Given the description of an element on the screen output the (x, y) to click on. 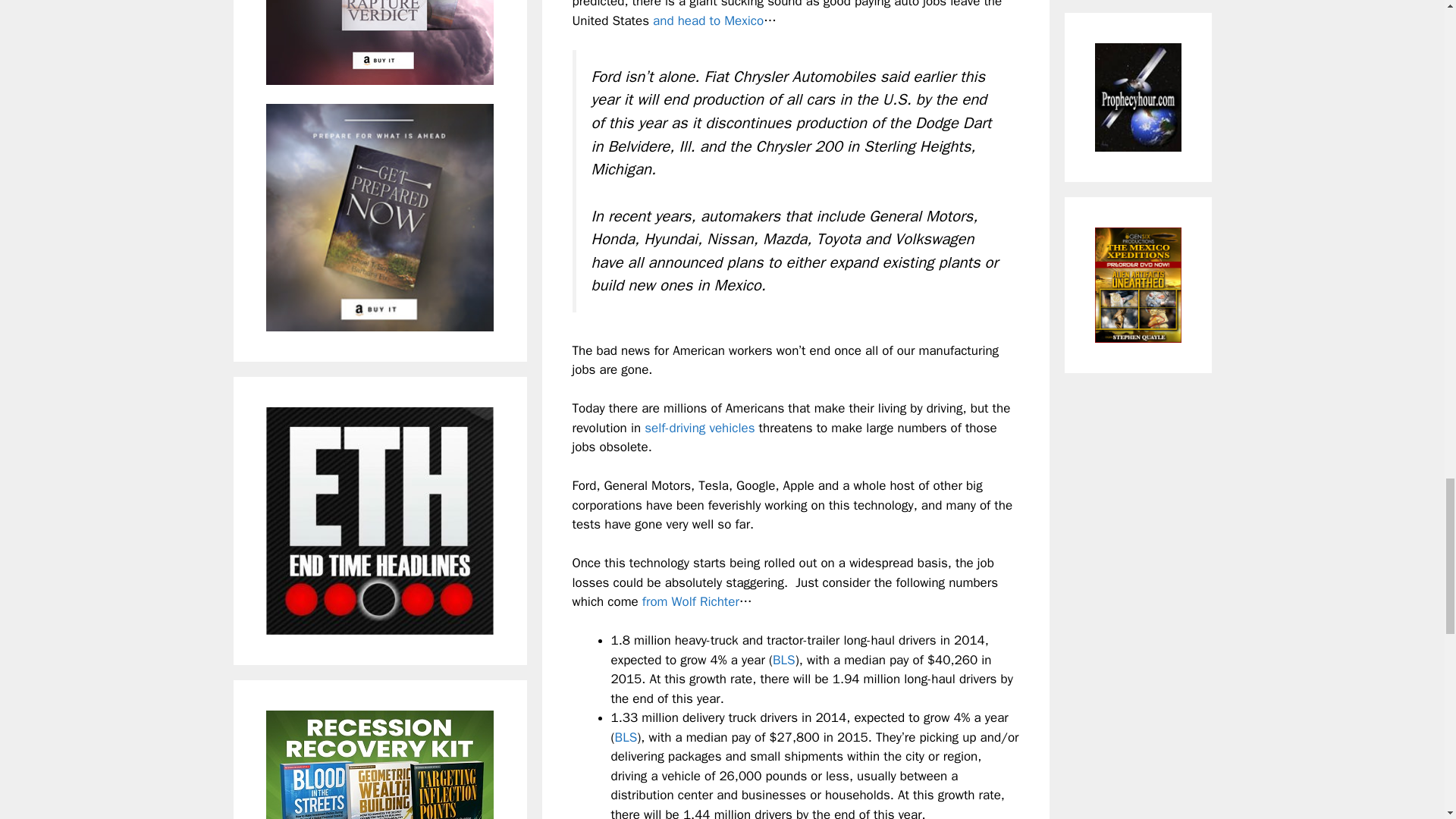
and head to Mexico (707, 20)
from Wolf Richter (690, 601)
BLS (625, 737)
and head to Mexico (707, 20)
BLS (783, 659)
self-driving vehicles (699, 427)
